Given the description of an element on the screen output the (x, y) to click on. 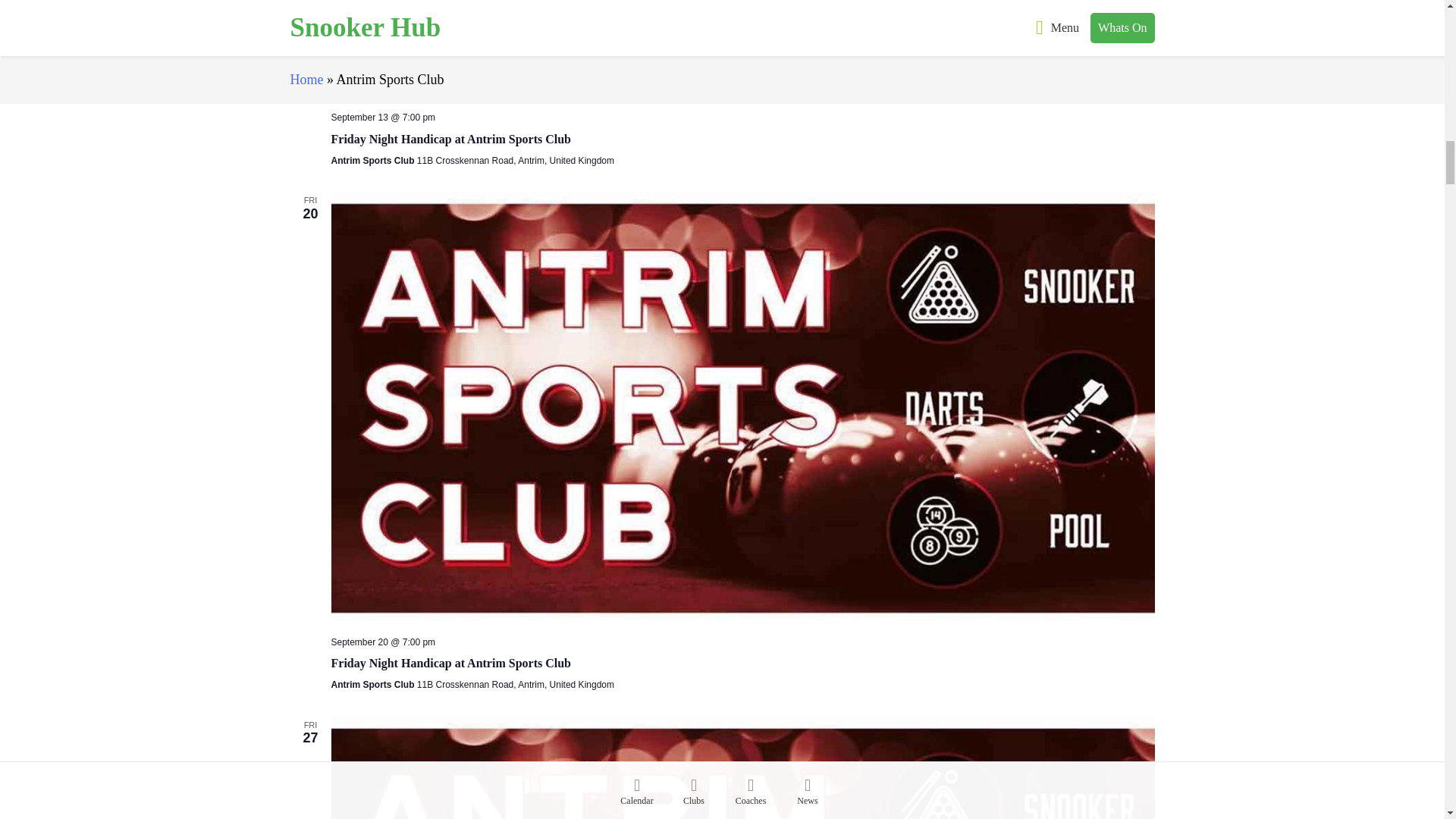
Friday Night Handicap at Antrim Sports Club (742, 49)
Friday Night Handicap at Antrim Sports Club (450, 139)
Friday Night Handicap at Antrim Sports Club (450, 663)
